Given the description of an element on the screen output the (x, y) to click on. 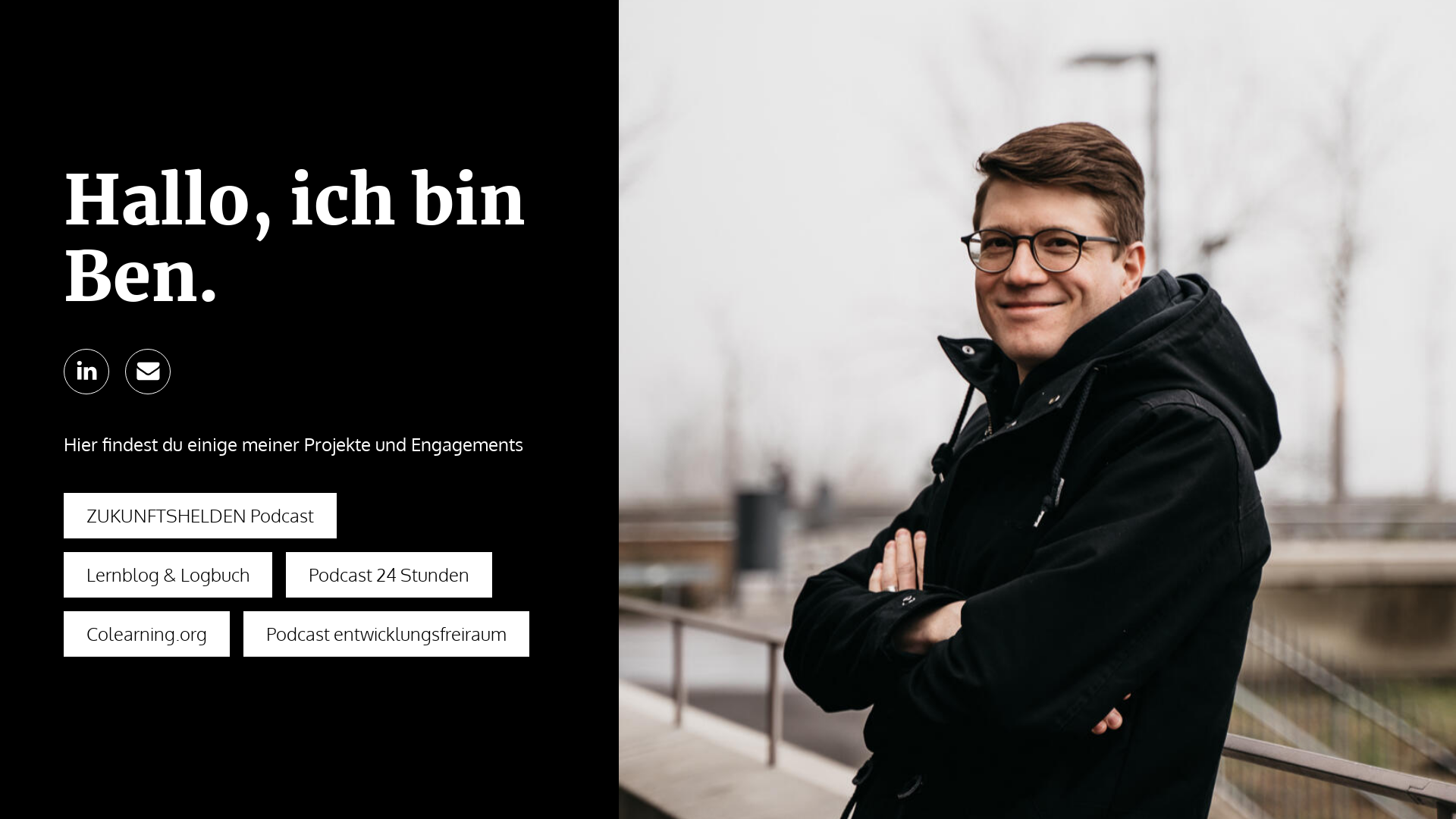
ZUKUNFTSHELDEN Podcast Element type: text (199, 515)
Podcast 24 Stunden Element type: text (388, 574)
Lernblog & Logbuch Element type: text (167, 574)
Colearning.org Element type: text (146, 633)
Podcast entwicklungsfreiraum Element type: text (386, 633)
